Given the description of an element on the screen output the (x, y) to click on. 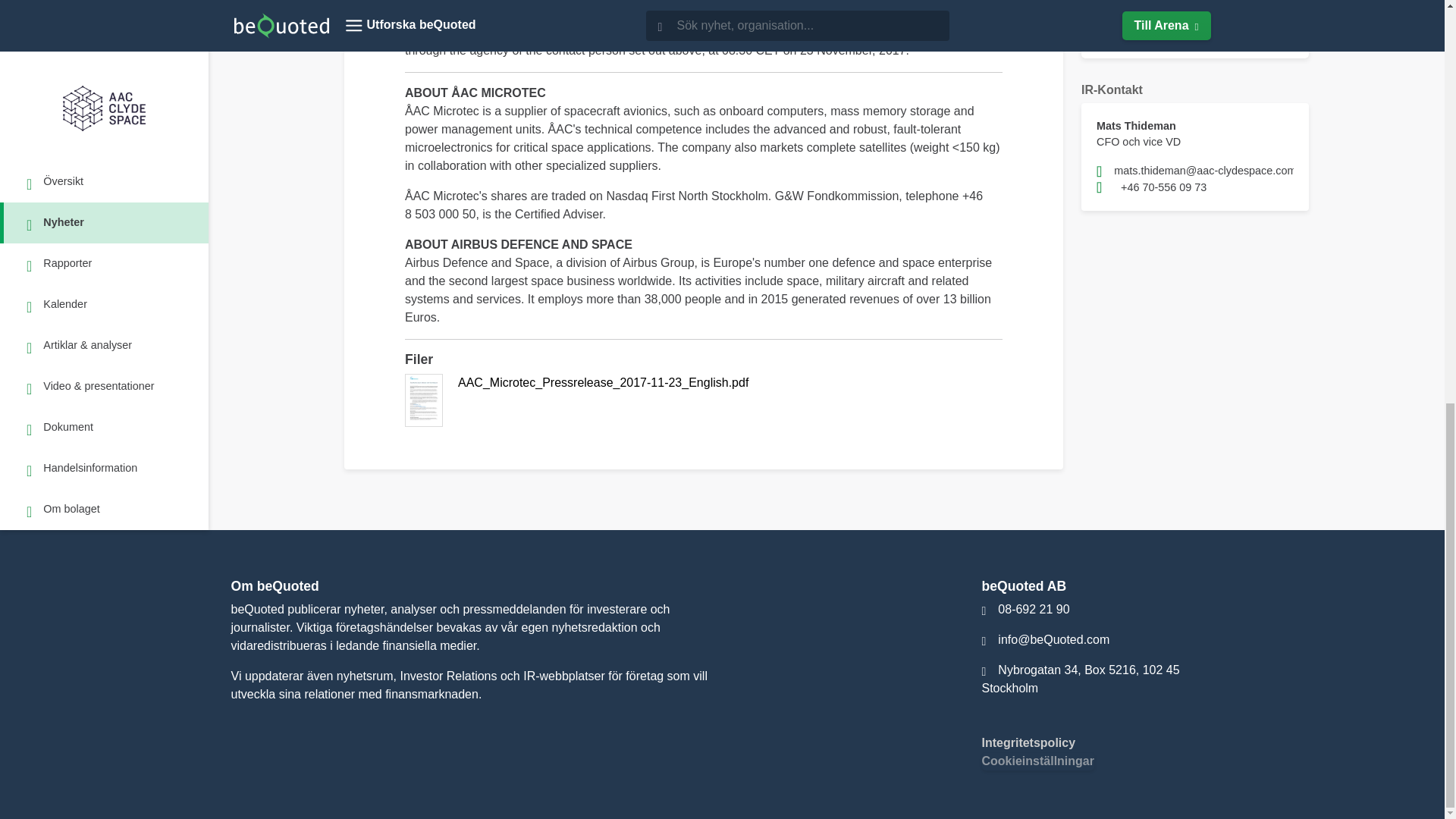
Integritetspolicy (1028, 742)
